Given the description of an element on the screen output the (x, y) to click on. 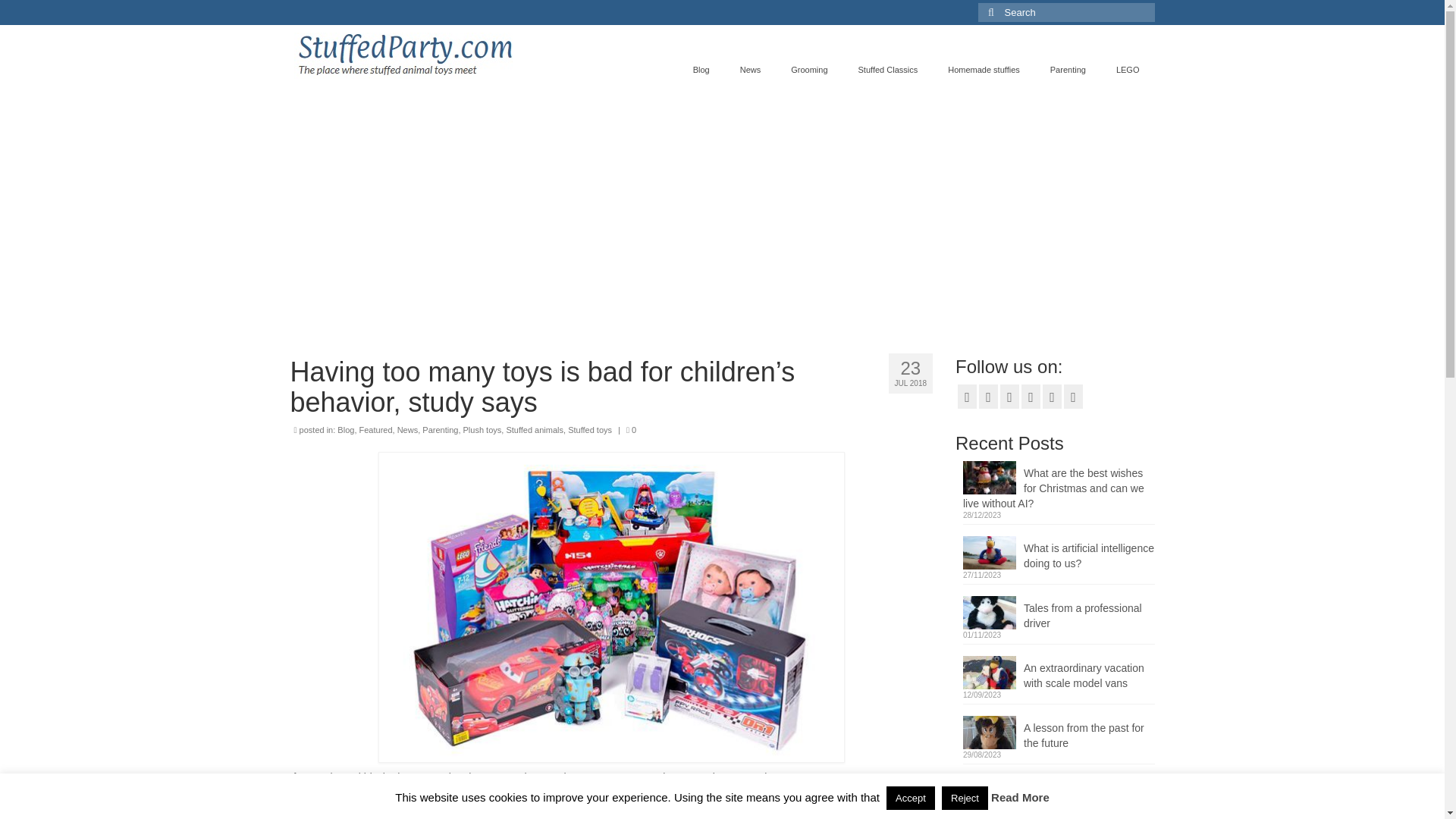
Parenting (1067, 69)
Stuffed toys (589, 429)
Homemade stuffies (984, 69)
Stuffed animals (534, 429)
Stuffed Classics (888, 69)
Blog (701, 69)
LEGO (1127, 69)
News (408, 429)
Featured (376, 429)
Parenting (440, 429)
News (750, 69)
Blog (345, 429)
Grooming (809, 69)
Plush toys (482, 429)
